Given the description of an element on the screen output the (x, y) to click on. 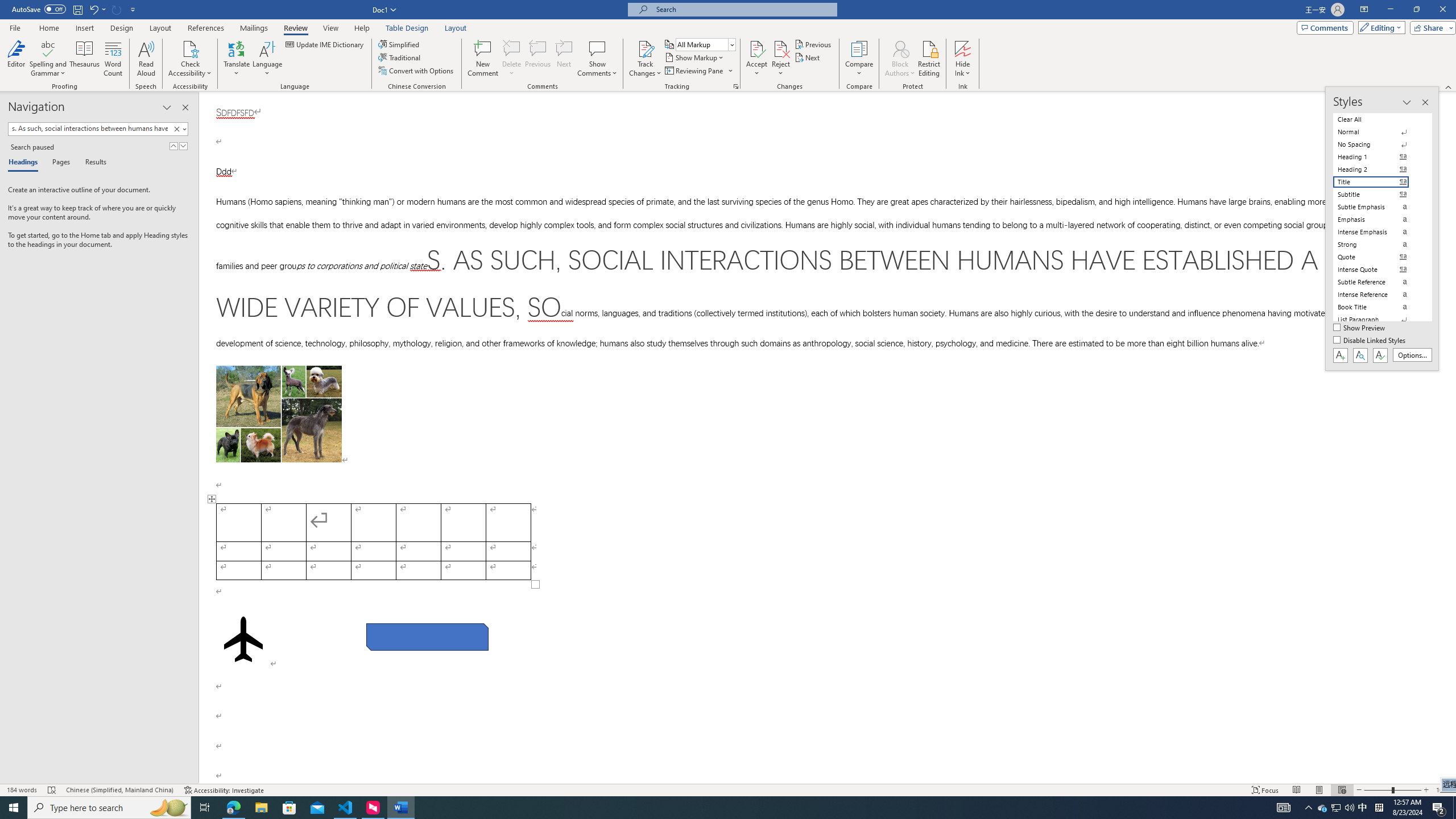
Block Authors (900, 58)
Check Accessibility (189, 58)
Intense Quote (1377, 269)
Search document (89, 128)
Word Count (113, 58)
Previous (813, 44)
Next (808, 56)
Clear (176, 128)
Title (1377, 182)
Previous Result (173, 145)
